Given the description of an element on the screen output the (x, y) to click on. 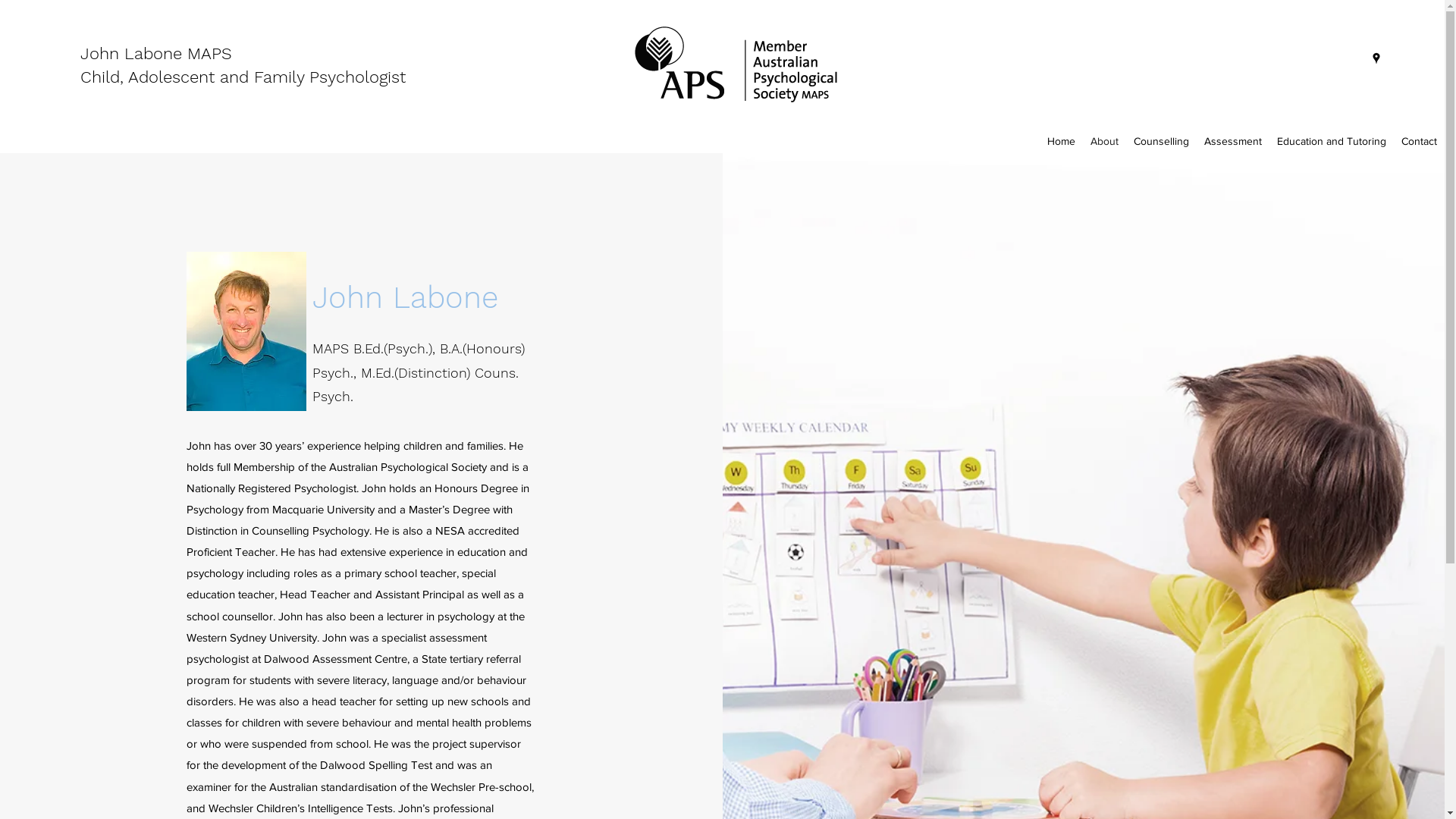
About Element type: text (1104, 140)
Counselling Element type: text (1161, 140)
APS_Member-Logo.gif Element type: hover (735, 64)
Contact Element type: text (1418, 140)
Home Element type: text (1060, 140)
Education and Tutoring Element type: text (1331, 140)
John Labone.jpg Element type: hover (246, 331)
John Labone MAPS Element type: text (156, 52)
Child, Adolescent and Family Psychologist Element type: text (242, 76)
Assessment Element type: text (1232, 140)
